Given the description of an element on the screen output the (x, y) to click on. 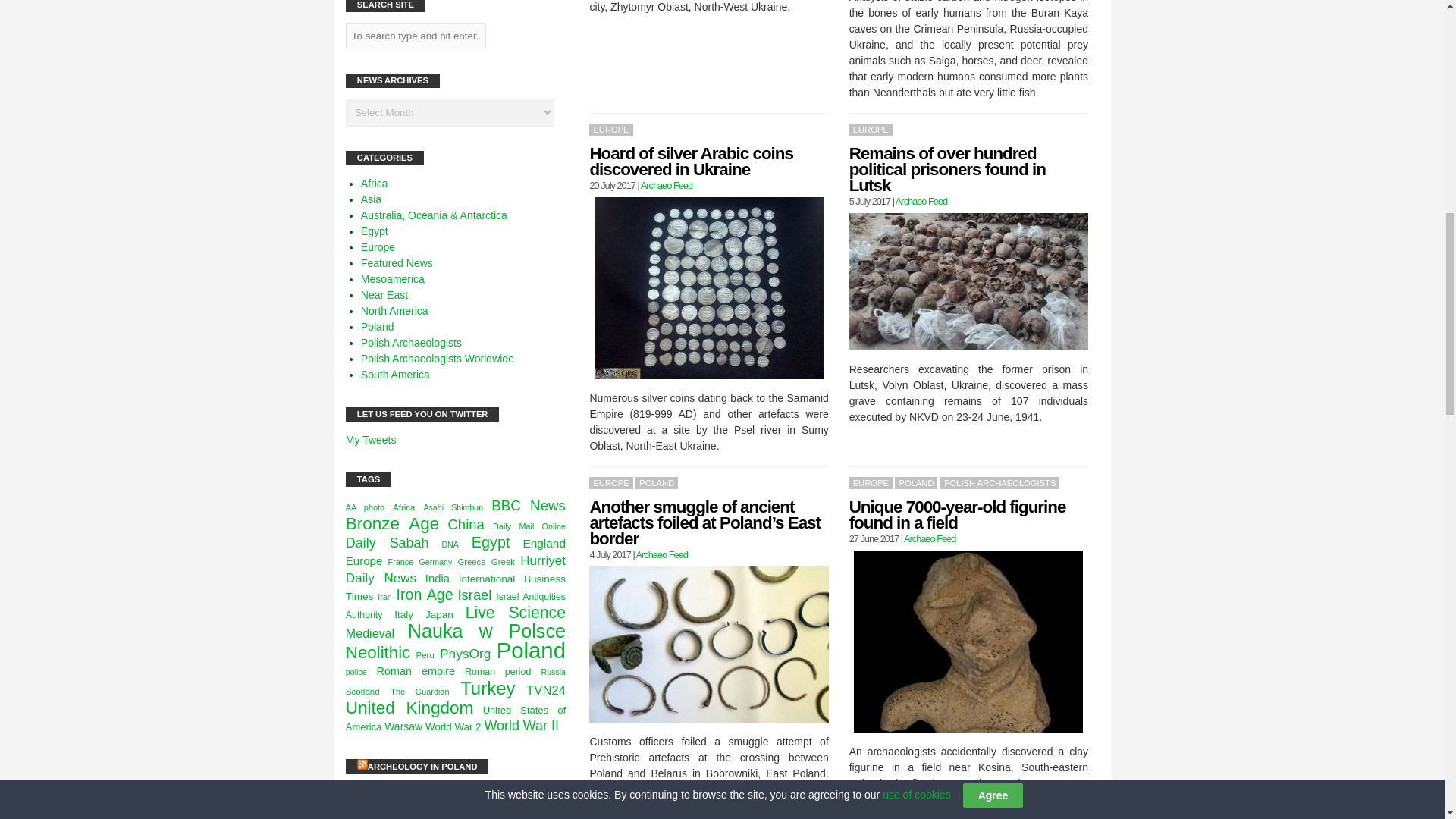
Thursday, Jul 20, 2017, 1:00 am (611, 184)
Tuesday, Jul 4, 2017, 1:01 am (609, 554)
Posts by Archaeo Feed (666, 184)
Wednesday, Jul 5, 2017, 1:00 am (868, 201)
EUROPE (870, 129)
Posts by Archaeo Feed (929, 538)
EUROPE (610, 129)
Posts by Archaeo Feed (661, 554)
Remains of over hundred political prisoners found in Lutsk (946, 169)
Archaeo Feed (921, 201)
Hoard of silver Arabic coins discovered in Ukraine (691, 161)
Tuesday, Jun 27, 2017, 12:01 pm (873, 538)
Posts by Archaeo Feed (921, 201)
Archaeo Feed (666, 184)
